Given the description of an element on the screen output the (x, y) to click on. 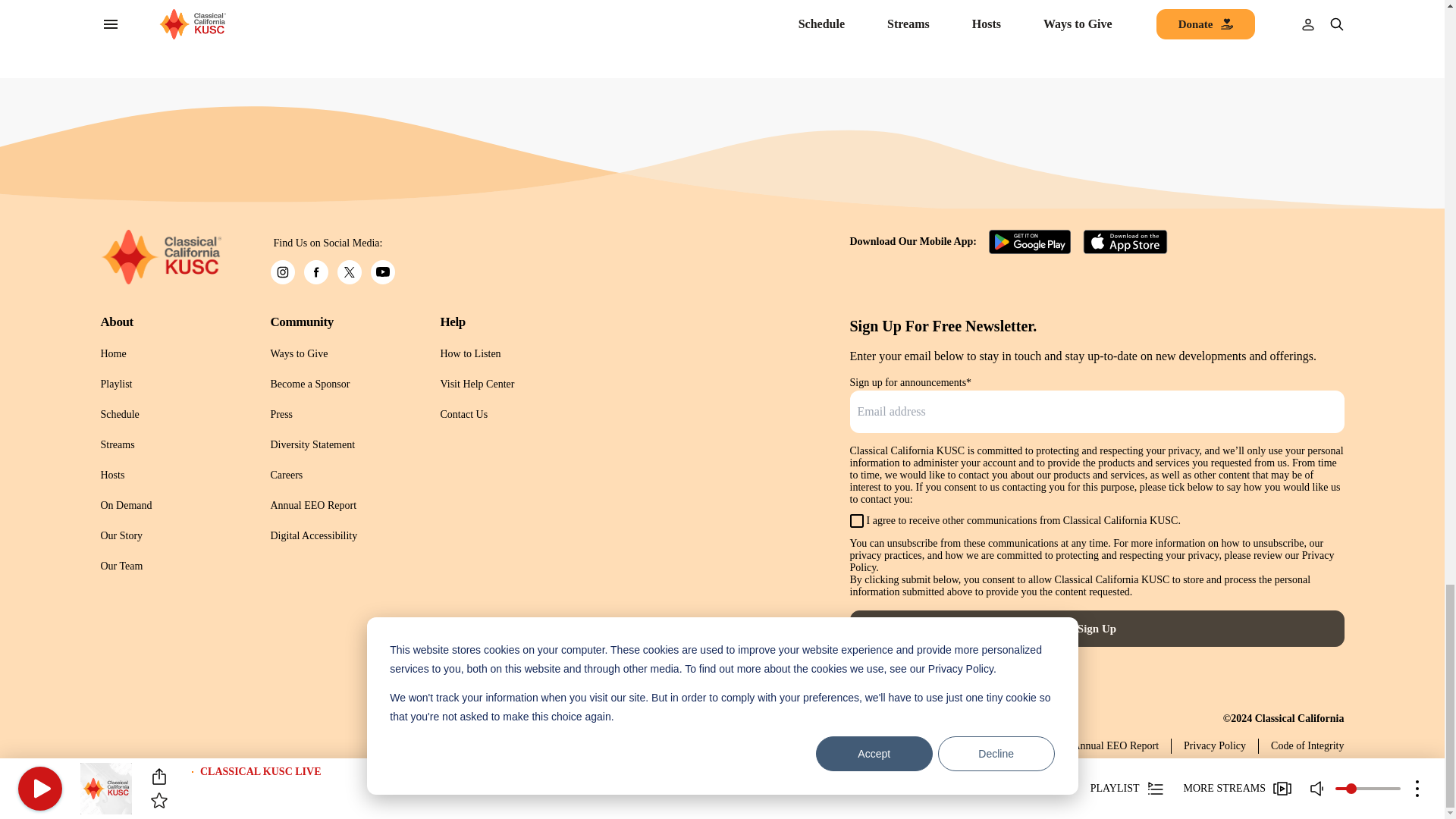
DOWNLOAD IN APP STORE (1125, 241)
YOUTUBE (381, 272)
FACEBOOK (314, 272)
DOWNLOAD IN GOOGLE PLAY (1031, 241)
Sign up (1095, 628)
TWITTER (348, 272)
INSTAGRAM (281, 272)
HOME (160, 257)
true (855, 520)
